Given the description of an element on the screen output the (x, y) to click on. 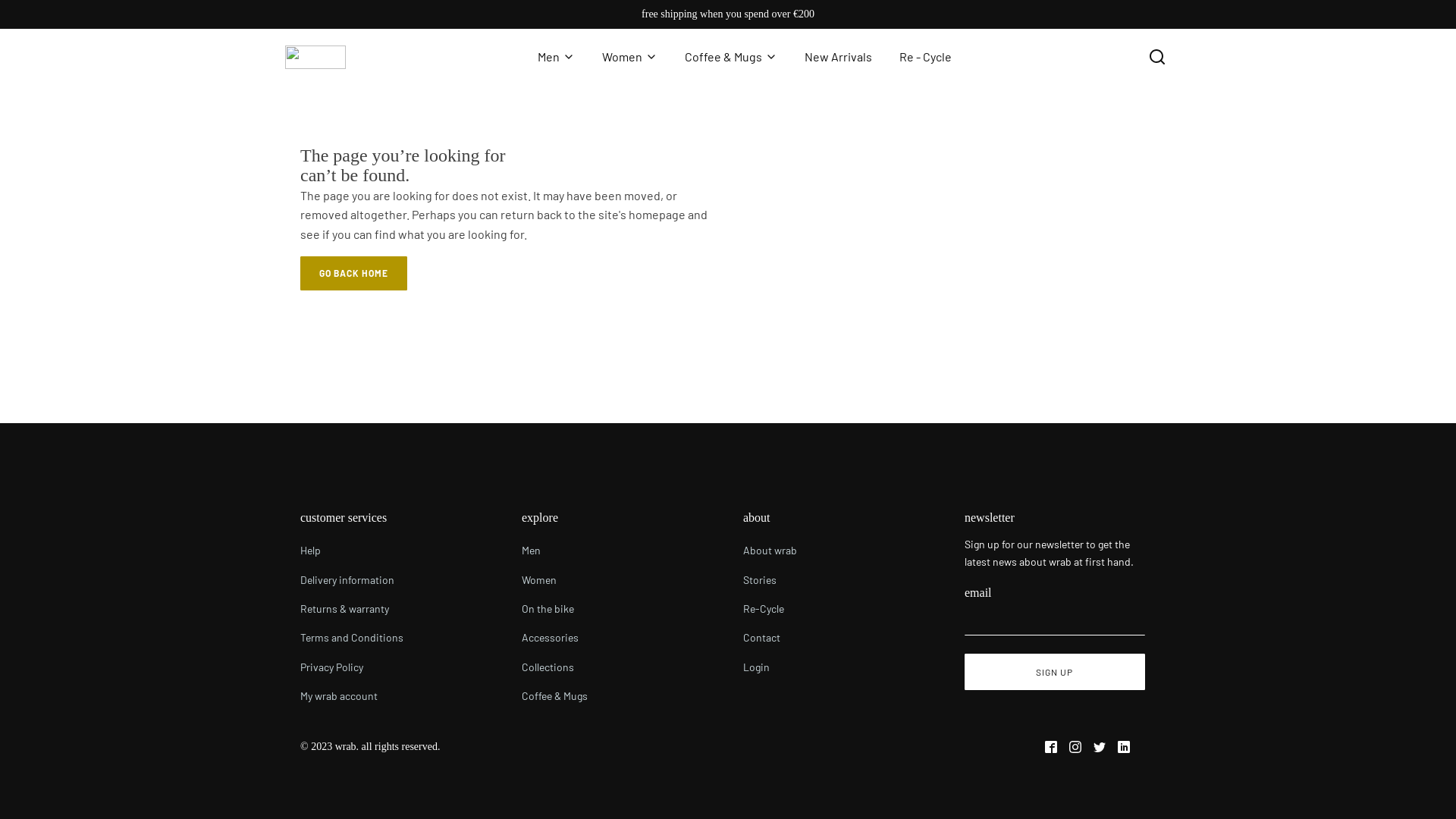
Sign up Element type: text (1054, 671)
GO BACK HOME Element type: text (353, 273)
My wrab account Element type: text (351, 695)
Login Element type: text (770, 666)
Stories Element type: text (770, 579)
Privacy Policy Element type: text (351, 666)
Re - Cycle Element type: text (925, 56)
Contact Element type: text (770, 637)
Delivery information Element type: text (351, 579)
About wrab Element type: text (770, 550)
Coffee & Mugs Element type: text (730, 56)
Women Element type: text (554, 579)
Help Element type: text (351, 550)
Collections Element type: text (554, 666)
Terms and Conditions Element type: text (351, 637)
Re-Cycle Element type: text (770, 608)
Coffee & Mugs Element type: text (554, 695)
Search Element type: text (25, 9)
Men Element type: text (556, 56)
Women Element type: text (629, 56)
Accessories Element type: text (554, 637)
On the bike Element type: text (554, 608)
Men Element type: text (554, 550)
Returns & warranty Element type: text (351, 608)
New Arrivals Element type: text (838, 56)
